Given the description of an element on the screen output the (x, y) to click on. 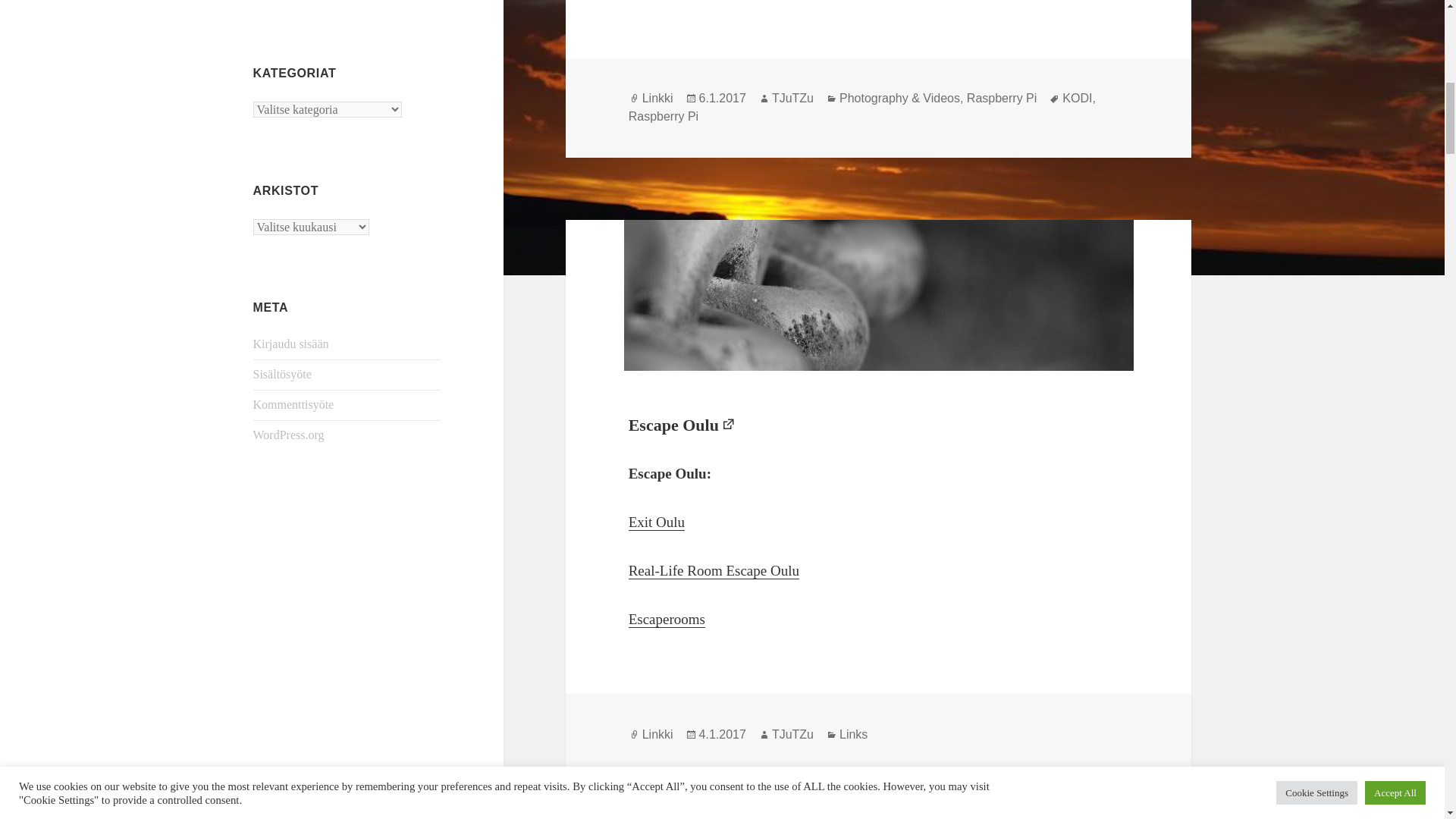
Exit Oulu (656, 522)
Escaperooms (666, 619)
Linkki (657, 735)
TJuTZu (792, 98)
Real-Life Room Escape Oulu (713, 570)
Raspberry Pi (1001, 98)
Raspberry Pi (663, 116)
KODI (1077, 98)
Escape Oulu (682, 424)
6.1.2017 (721, 98)
Linkki (657, 98)
WordPress.org (288, 434)
